Given the description of an element on the screen output the (x, y) to click on. 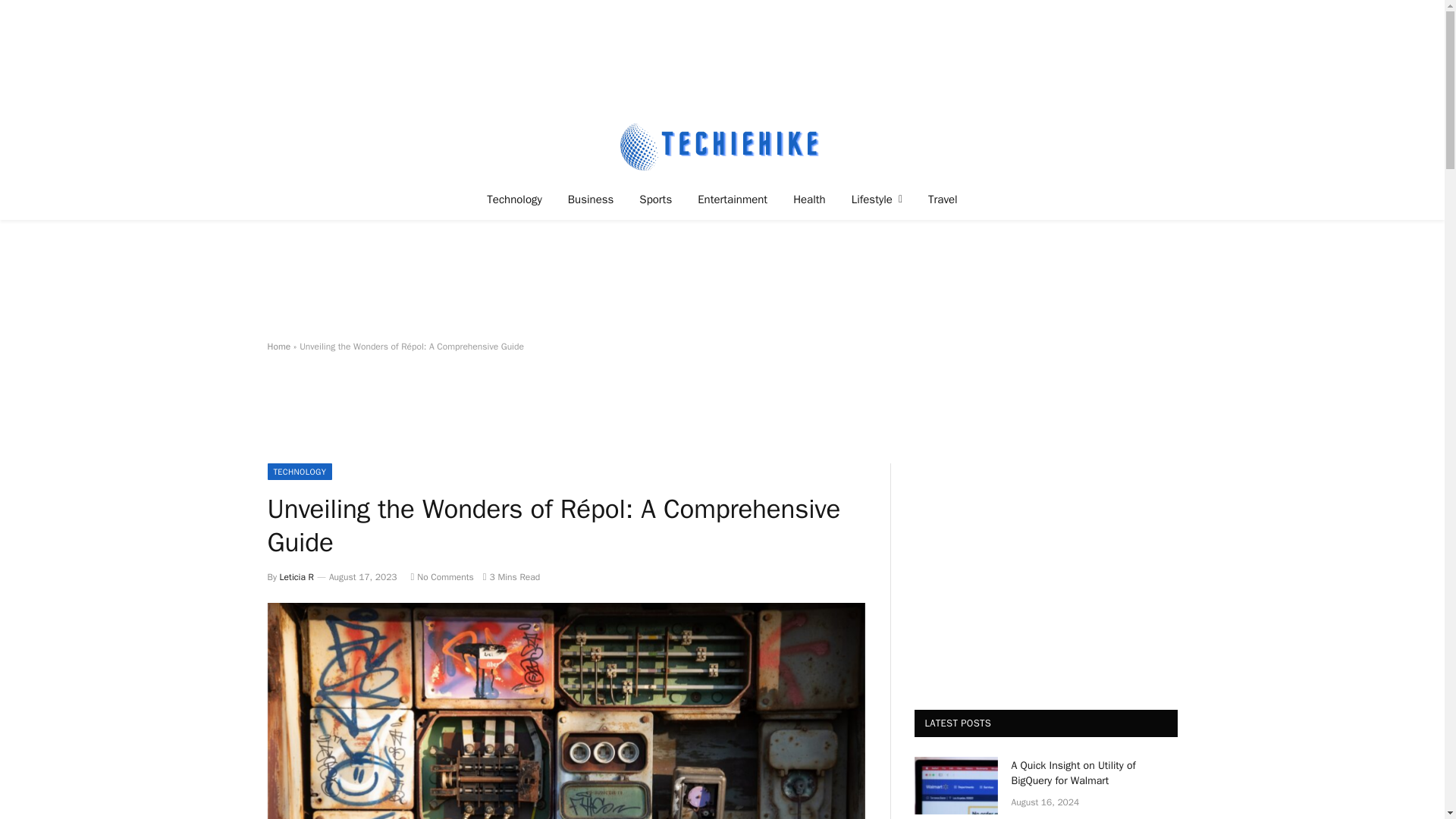
Advertisement (542, 418)
Advertisement (721, 280)
Health (809, 199)
Sports (655, 199)
Posts by Leticia R (296, 576)
Leticia R (296, 576)
Advertisement (721, 56)
Techie Hike (722, 145)
Travel (943, 199)
Entertainment (732, 199)
